Given the description of an element on the screen output the (x, y) to click on. 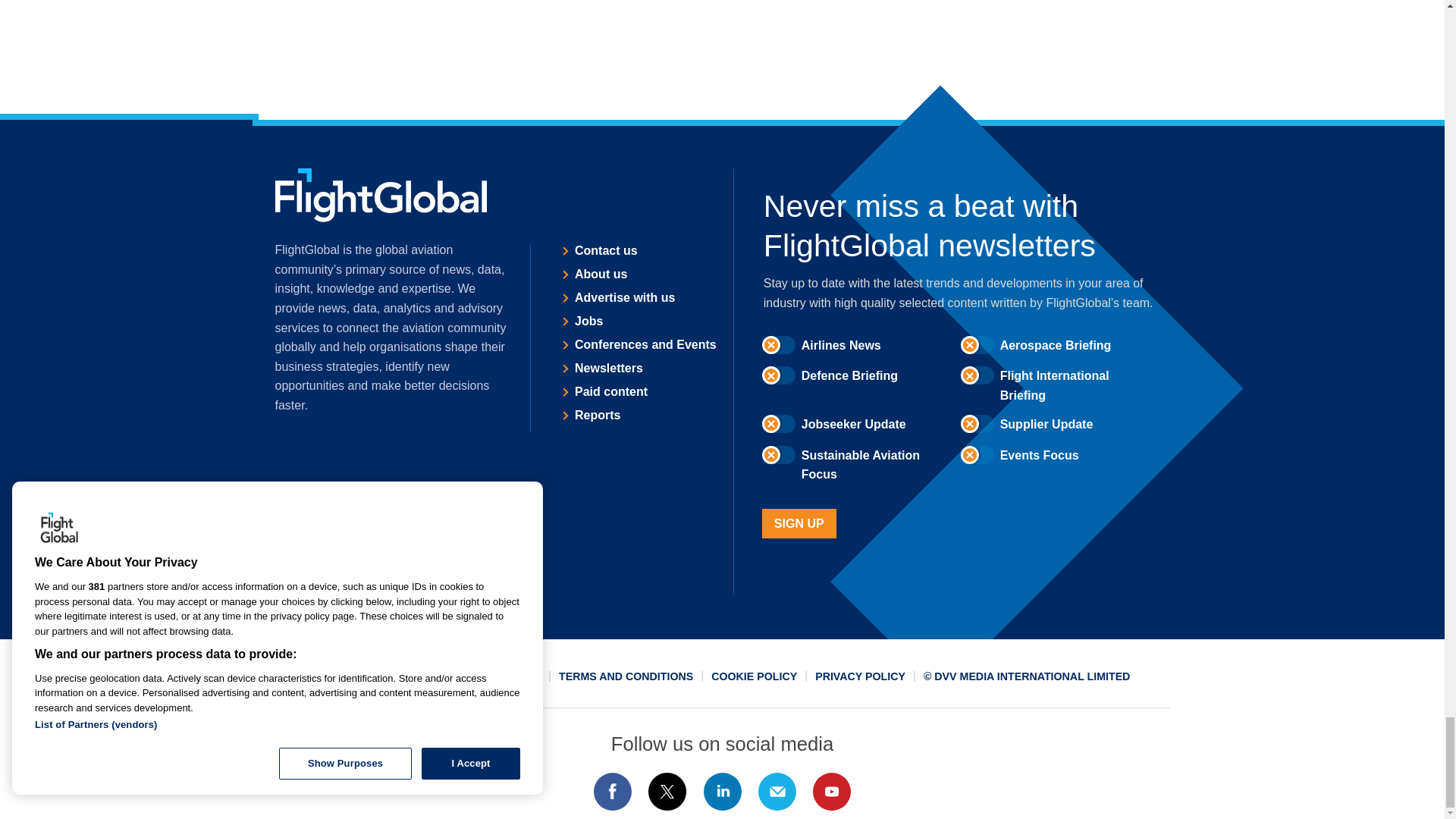
Connect with us on Twitter (667, 791)
Connect with us on Youtube (831, 791)
Connect with us on Facebook (611, 791)
Connect with us on Linked In (721, 791)
Email us (776, 791)
